Given the description of an element on the screen output the (x, y) to click on. 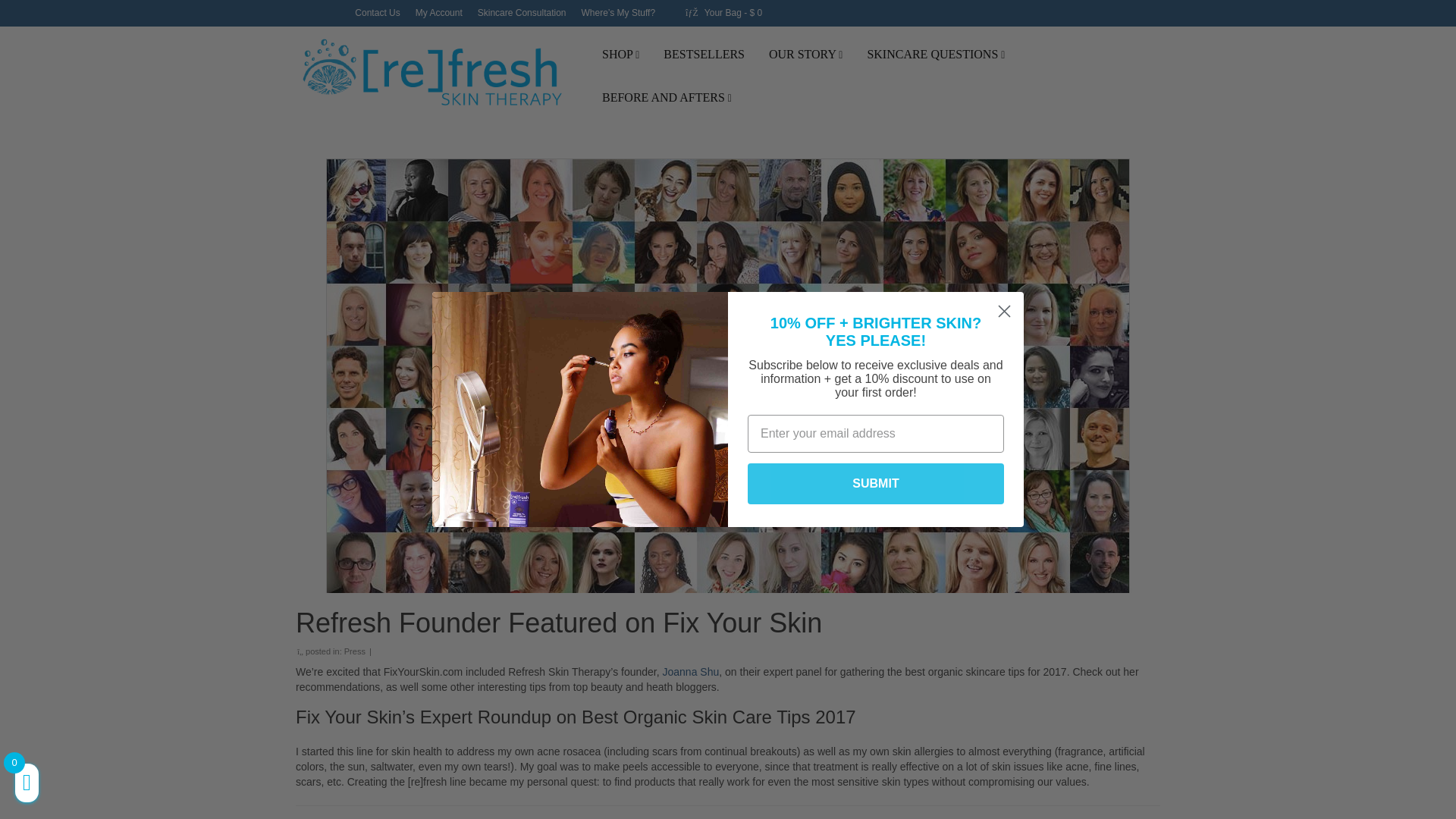
Refresh Skin Therapy (434, 74)
Skincare Consultation (521, 12)
View your shopping cart (724, 12)
BEFORE AND AFTERS (666, 98)
OUR STORY (805, 55)
My Account (438, 12)
About Refresh Skin Therapy (805, 55)
SKINCARE QUESTIONS (935, 55)
BESTSELLERS (703, 55)
Contact Us (377, 12)
SHOP (620, 55)
